Given the description of an element on the screen output the (x, y) to click on. 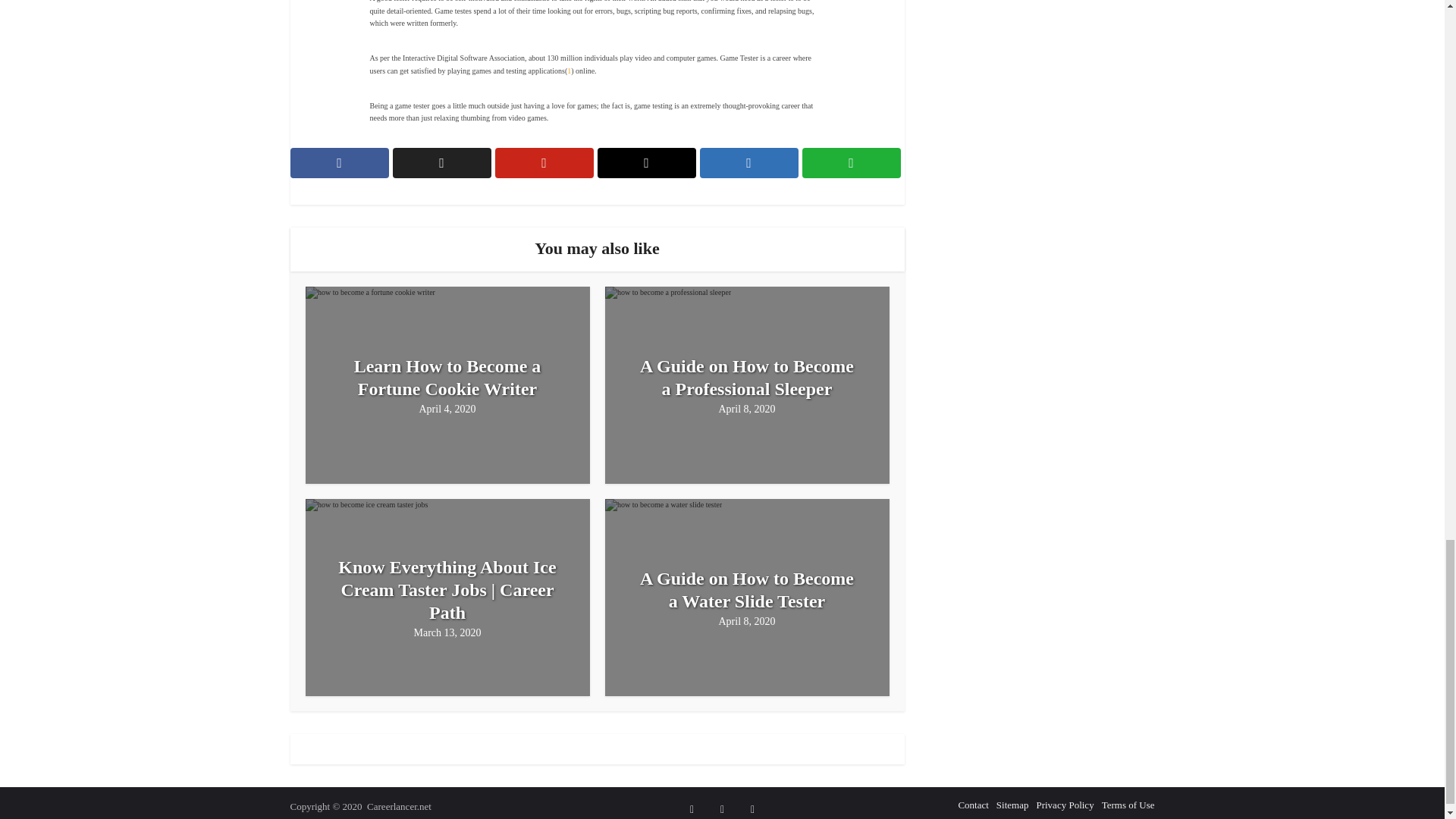
A Guide on How to Become a Professional Sleeper (747, 377)
Learn How to Become a Fortune Cookie Writer (446, 377)
A Guide on How to Become a Water Slide Tester (747, 589)
